Given the description of an element on the screen output the (x, y) to click on. 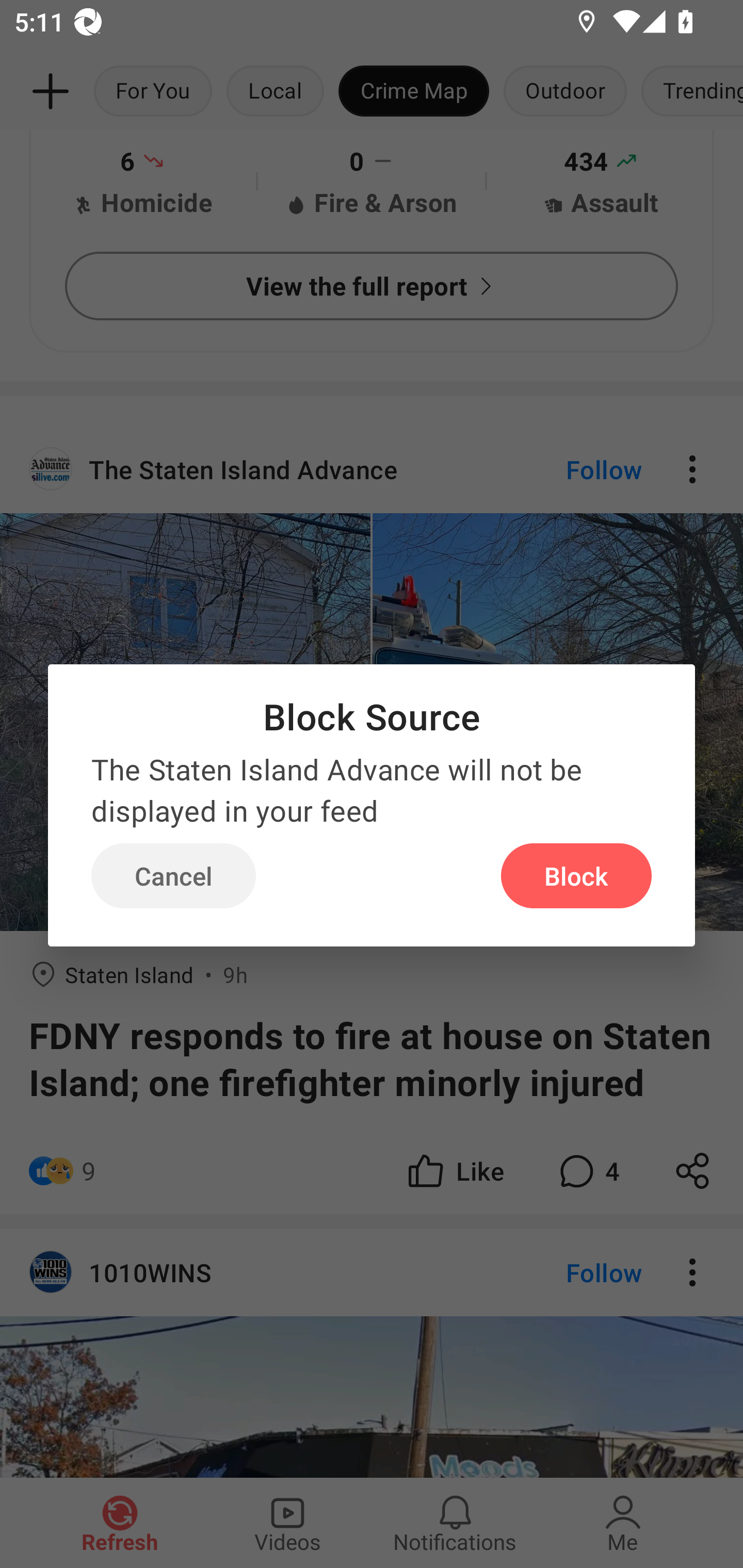
Cancel (173, 875)
Block (575, 875)
